Given the description of an element on the screen output the (x, y) to click on. 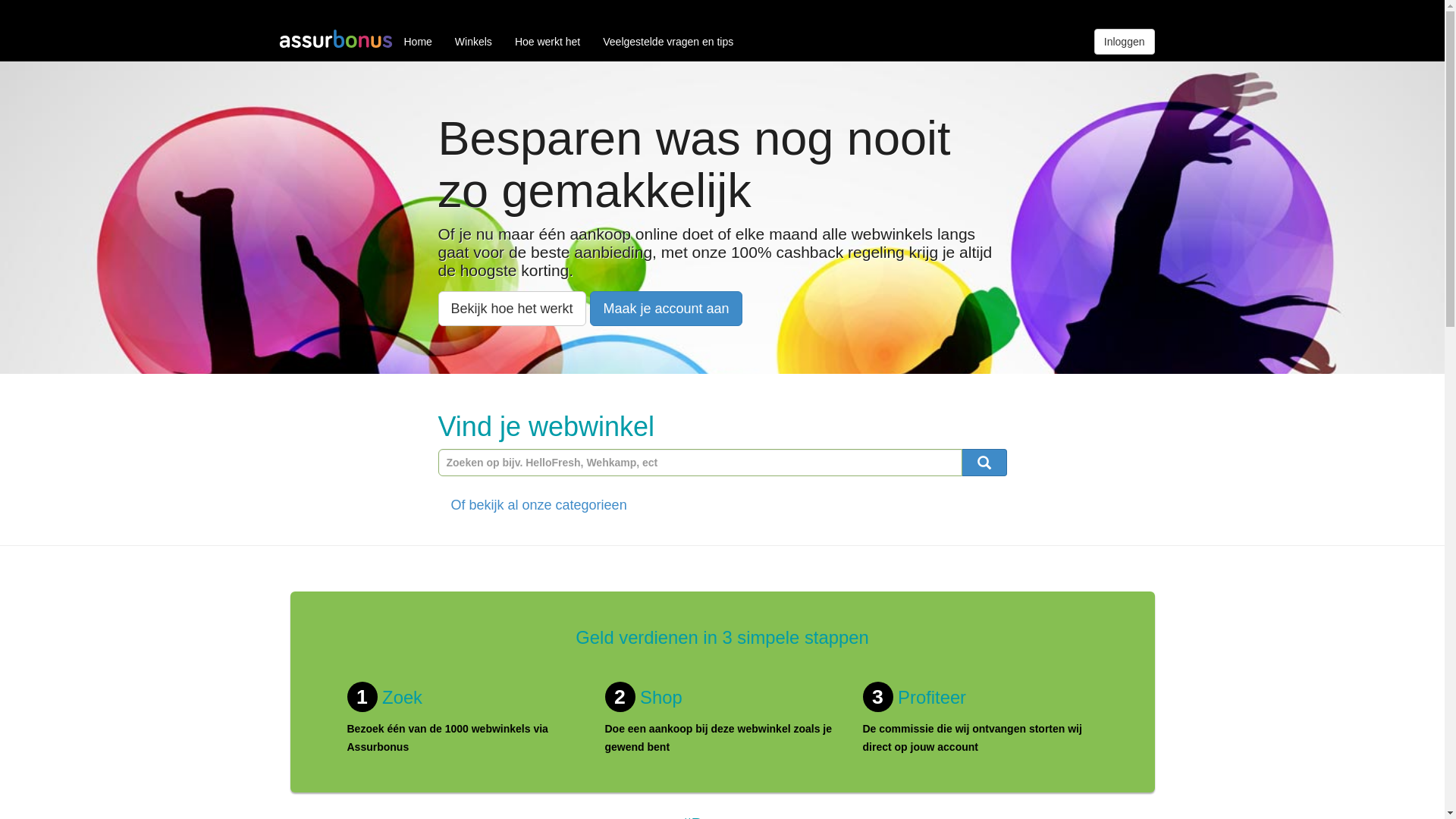
Maak je account aan Element type: text (665, 308)
Home Element type: text (417, 41)
Assurbonus Element type: text (335, 41)
Bekijk hoe het werkt Element type: text (512, 308)
Inloggen Element type: text (1124, 41)
Hoe werkt het Element type: text (547, 41)
Veelgestelde vragen en tips Element type: text (667, 41)
Of bekijk al onze categorieen Element type: text (539, 504)
Winkels Element type: text (473, 41)
